Given the description of an element on the screen output the (x, y) to click on. 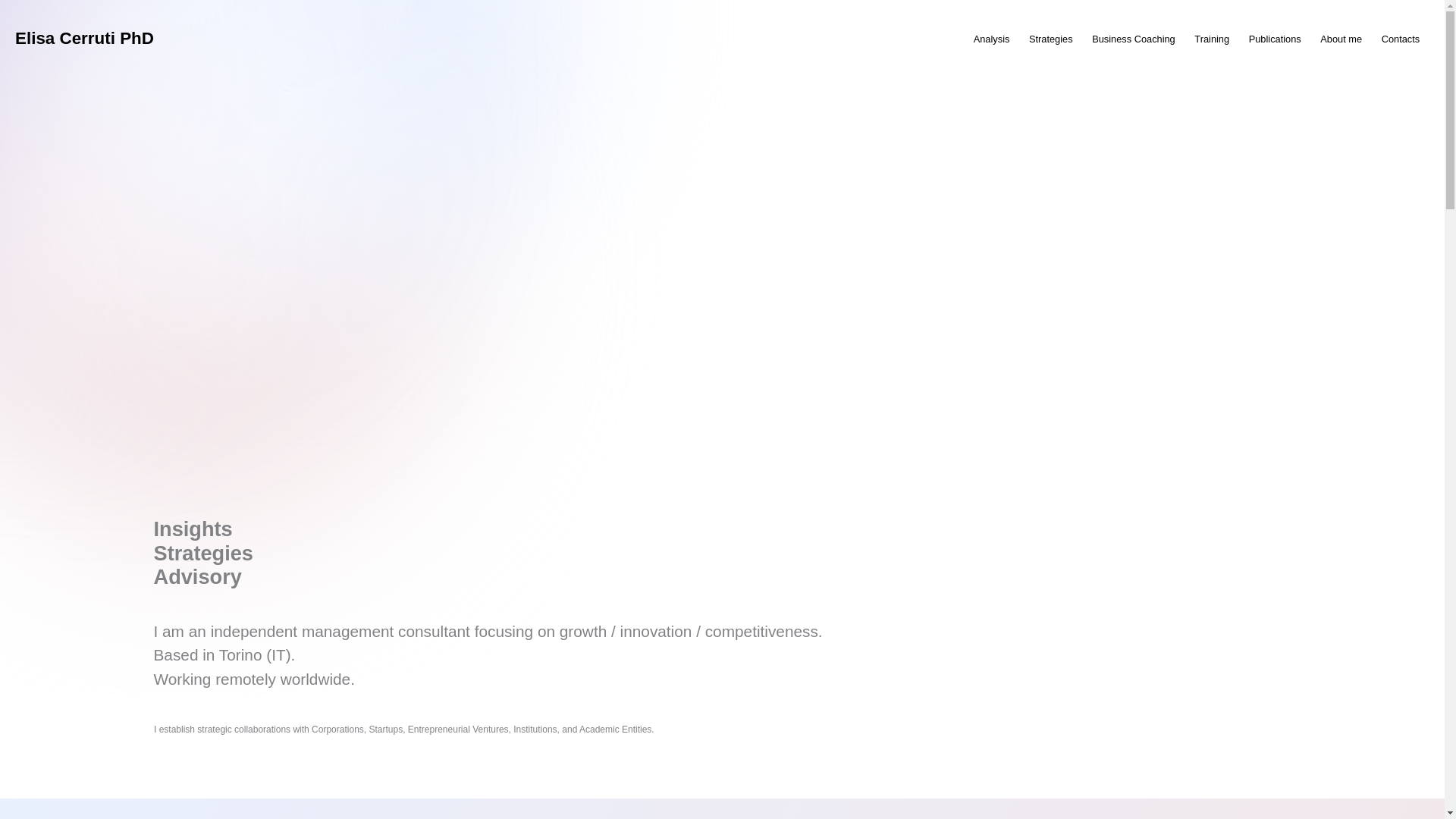
About me (1341, 38)
Publications (1275, 38)
Strategies (1050, 38)
Analysis (991, 38)
Contacts (1400, 38)
Elisa Cerruti PhD (84, 37)
Business Coaching (1133, 38)
Training (1212, 38)
